Given the description of an element on the screen output the (x, y) to click on. 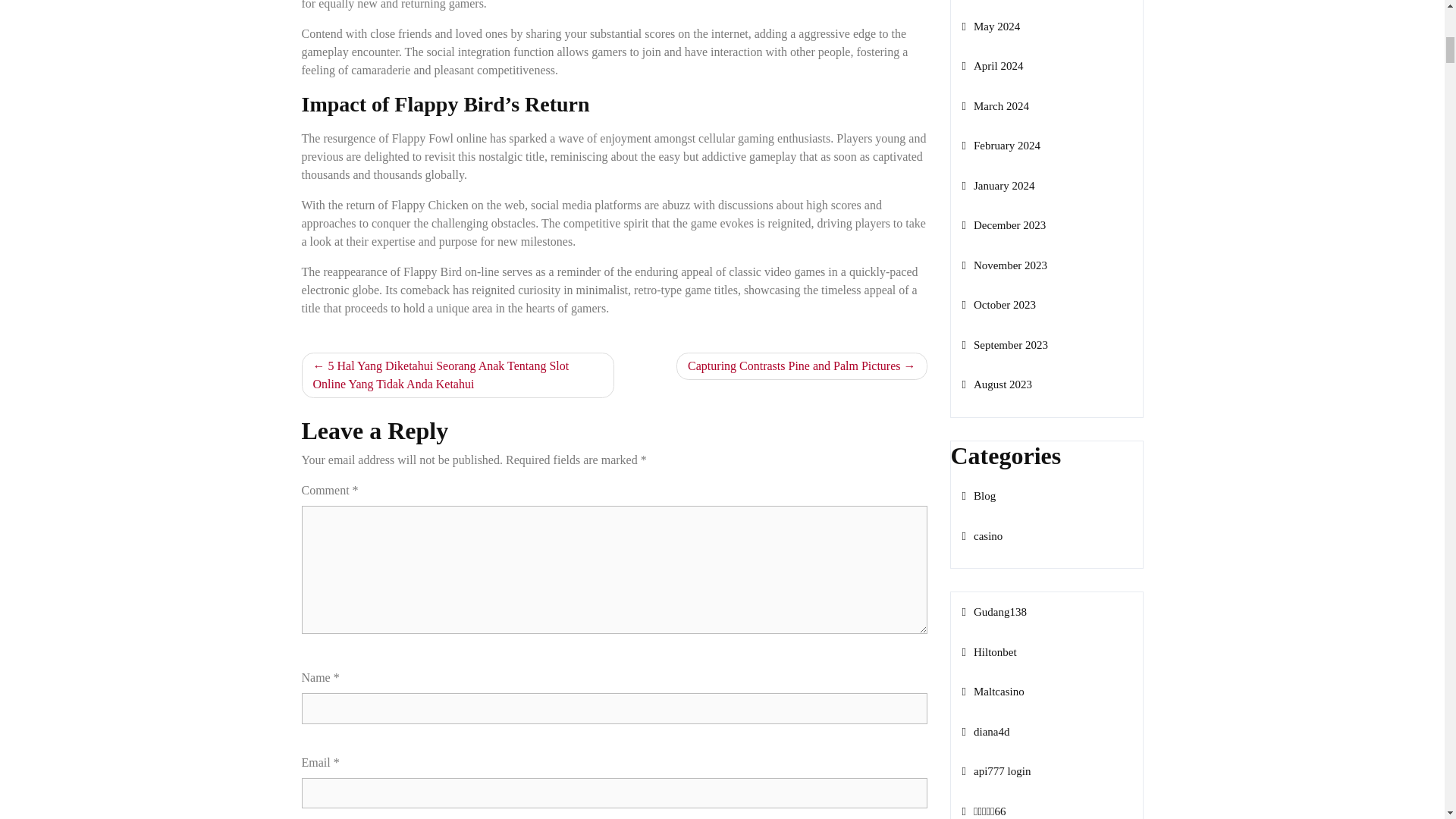
Hiltonbet (988, 652)
Maltcasino (991, 691)
April 2024 (991, 65)
api777 login (995, 770)
September 2023 (1003, 345)
Gudang138 (993, 612)
October 2023 (997, 304)
February 2024 (999, 145)
December 2023 (1002, 224)
casino (981, 535)
May 2024 (990, 26)
Capturing Contrasts Pine and Palm Pictures (801, 366)
March 2024 (993, 105)
Blog (977, 495)
